Given the description of an element on the screen output the (x, y) to click on. 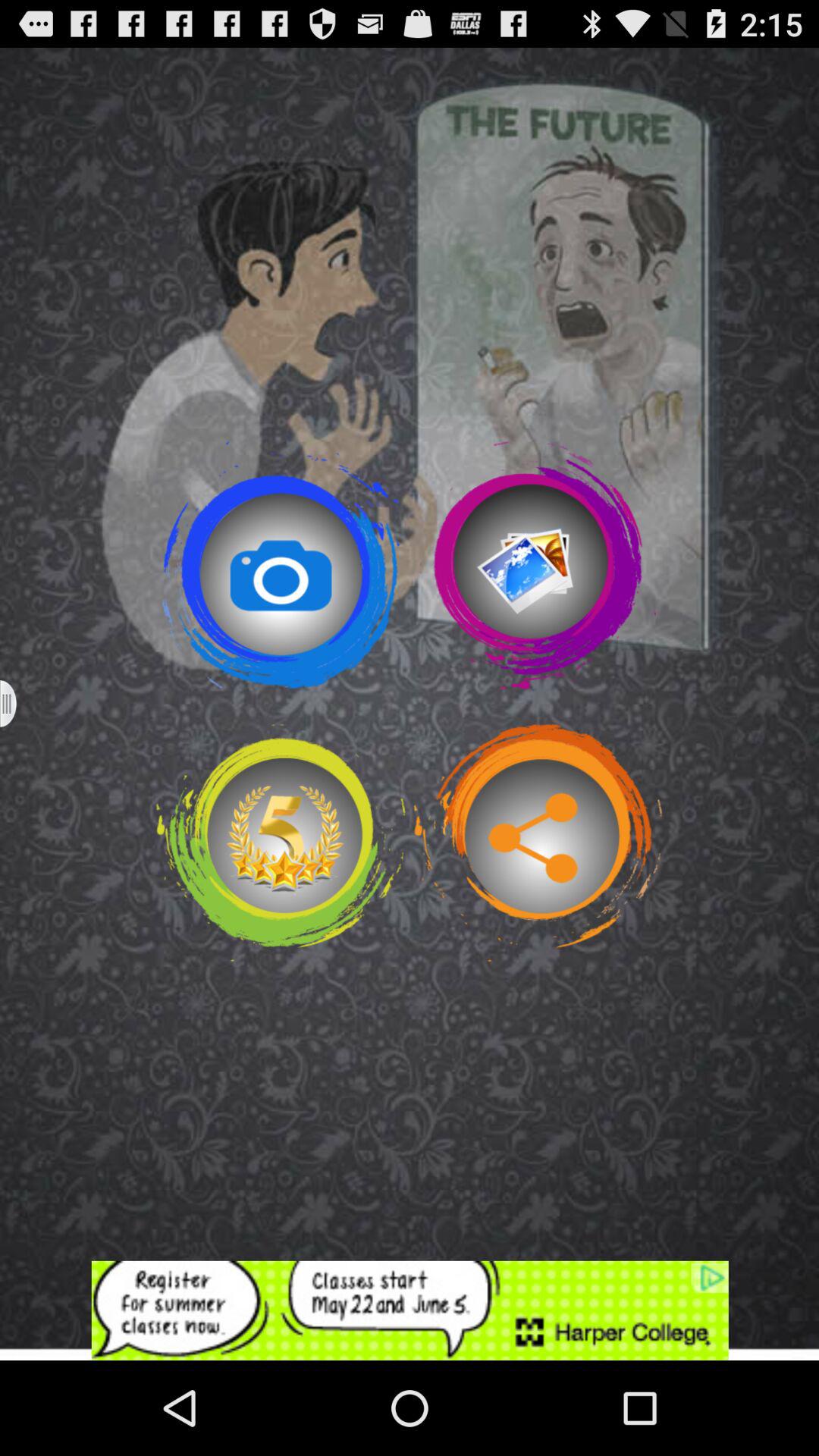
advertisement display (409, 1310)
